Given the description of an element on the screen output the (x, y) to click on. 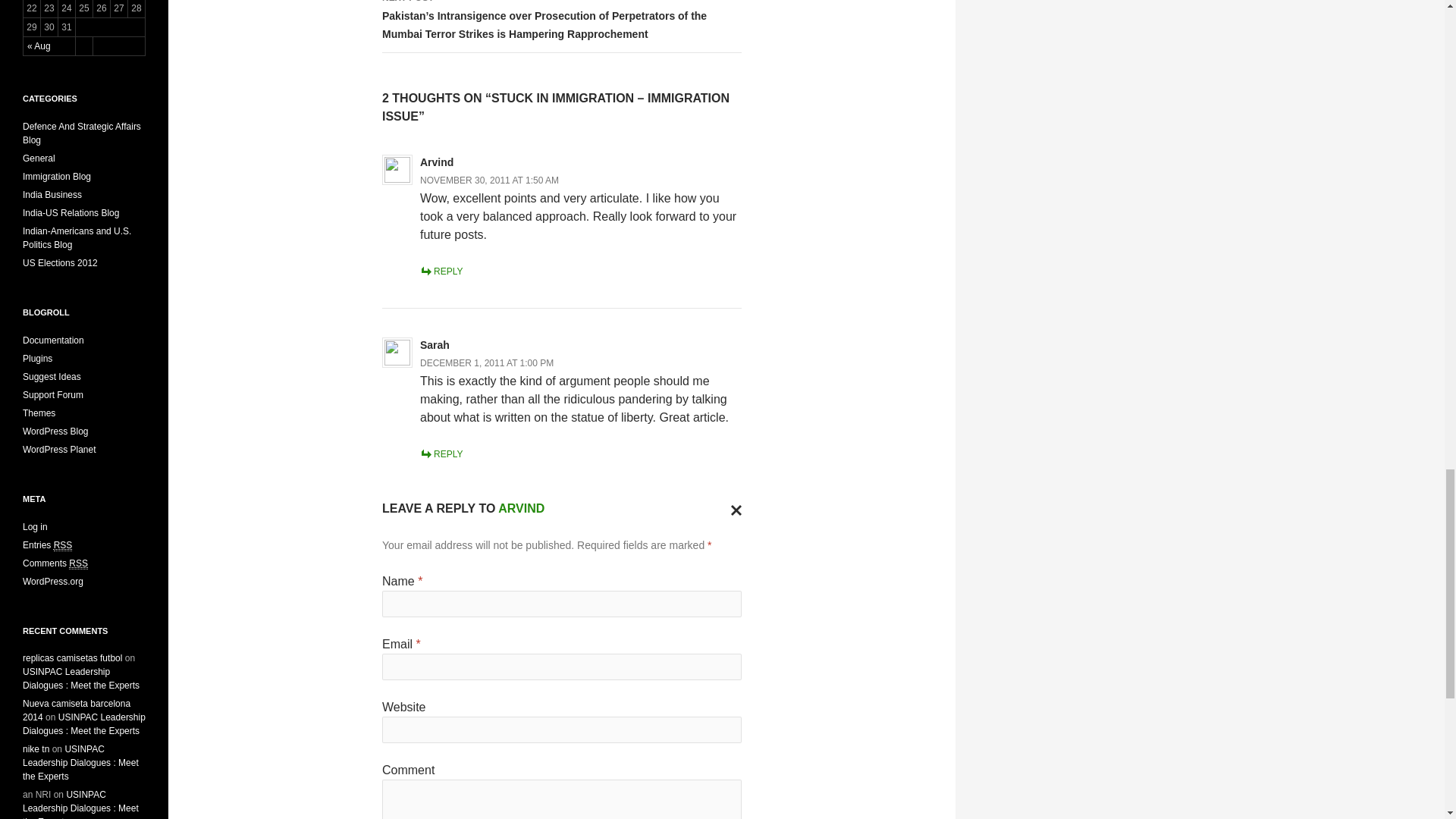
DECEMBER 1, 2011 AT 1:00 PM (486, 362)
View posts for August 2018 (38, 45)
ARVIND (520, 508)
REPLY (441, 453)
CANCEL REPLY (732, 508)
View all posts filed under General (39, 158)
NOVEMBER 30, 2011 AT 1:50 AM (489, 180)
REPLY (441, 271)
